Given the description of an element on the screen output the (x, y) to click on. 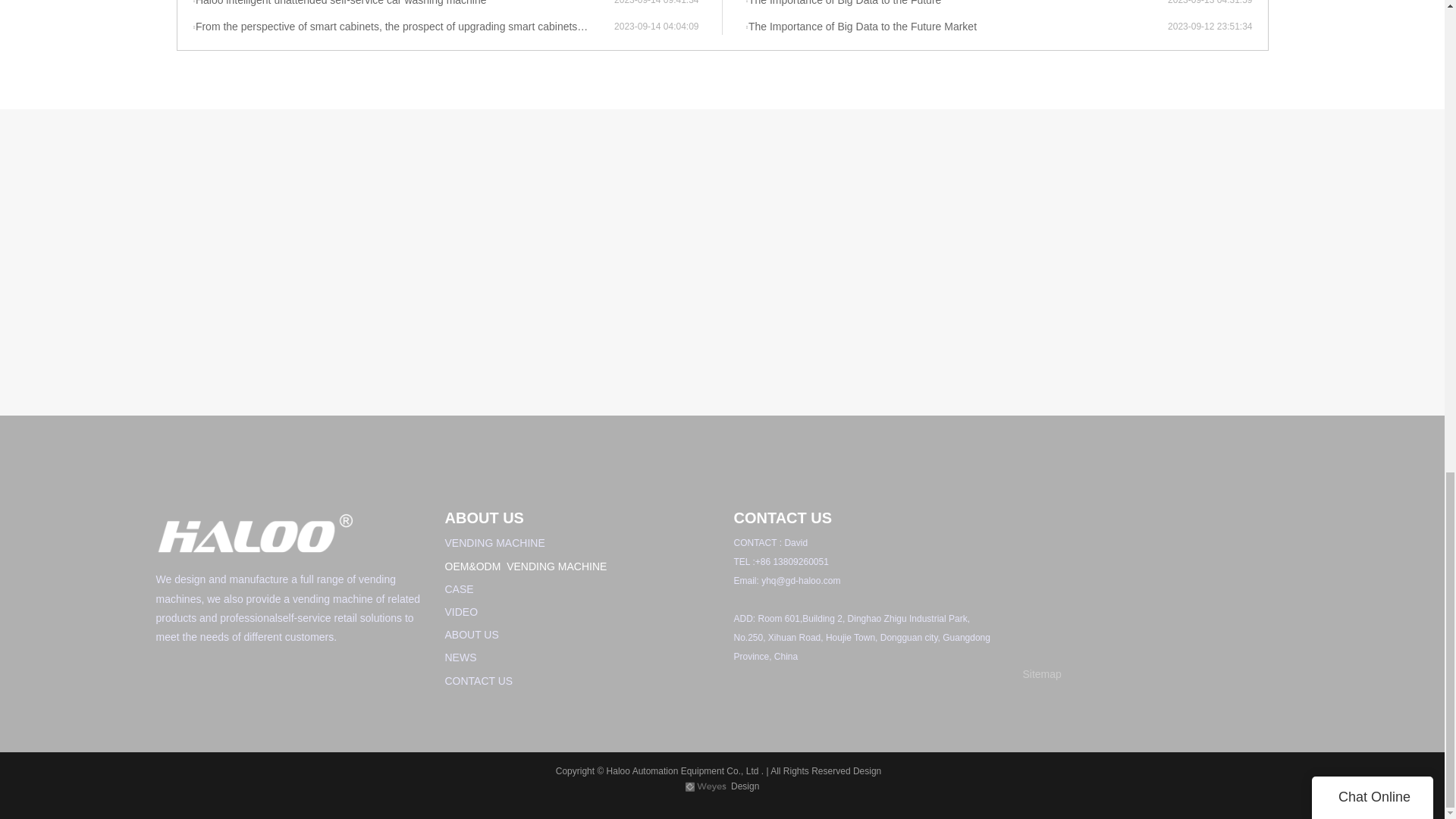
The Importance of Big Data to the Future (955, 4)
The Importance of Big Data to the Future Market (955, 27)
